Given the description of an element on the screen output the (x, y) to click on. 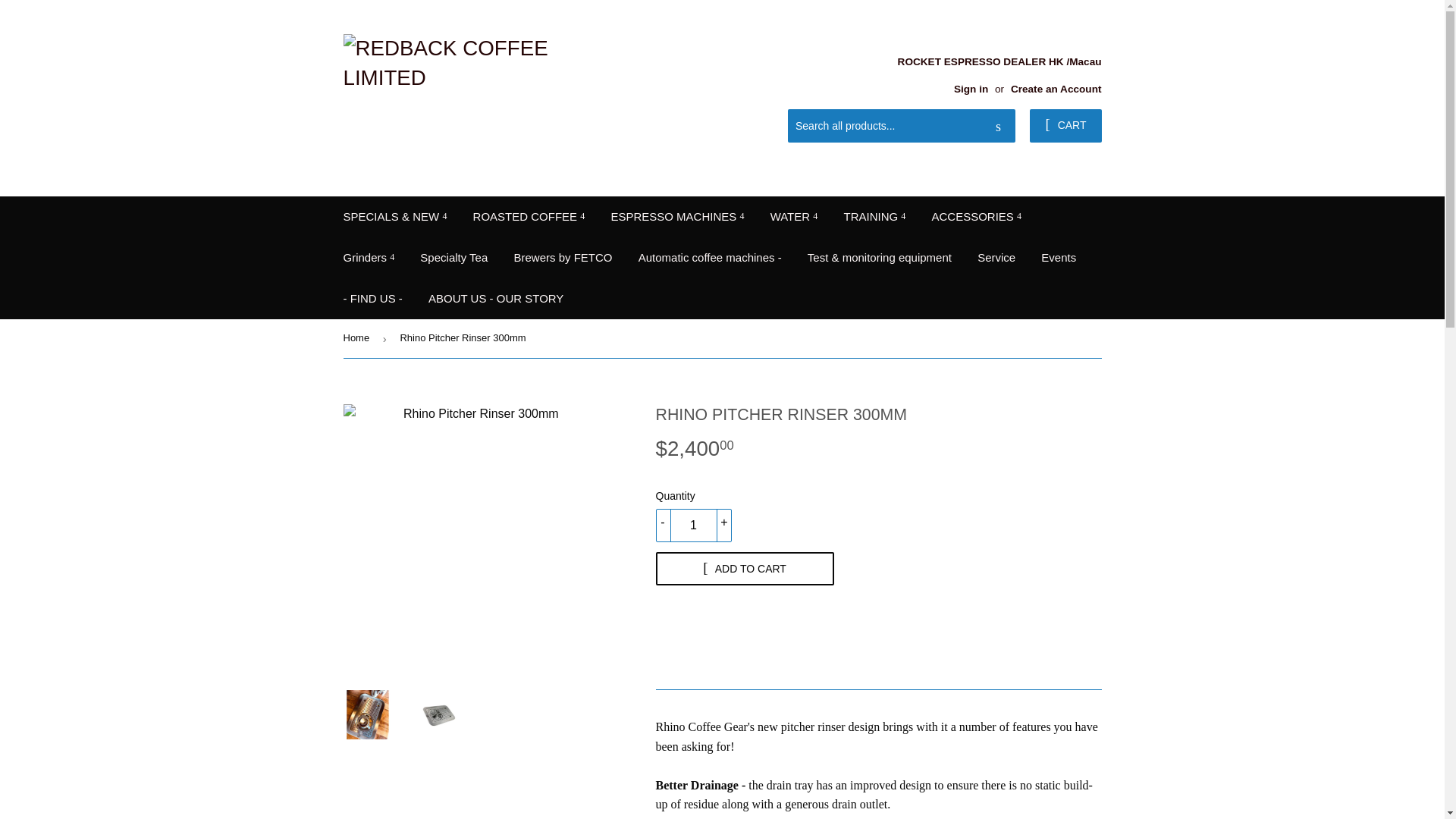
Create an Account (1056, 89)
CART (1064, 125)
Search (997, 126)
1 (692, 525)
Sign in (970, 89)
